Given the description of an element on the screen output the (x, y) to click on. 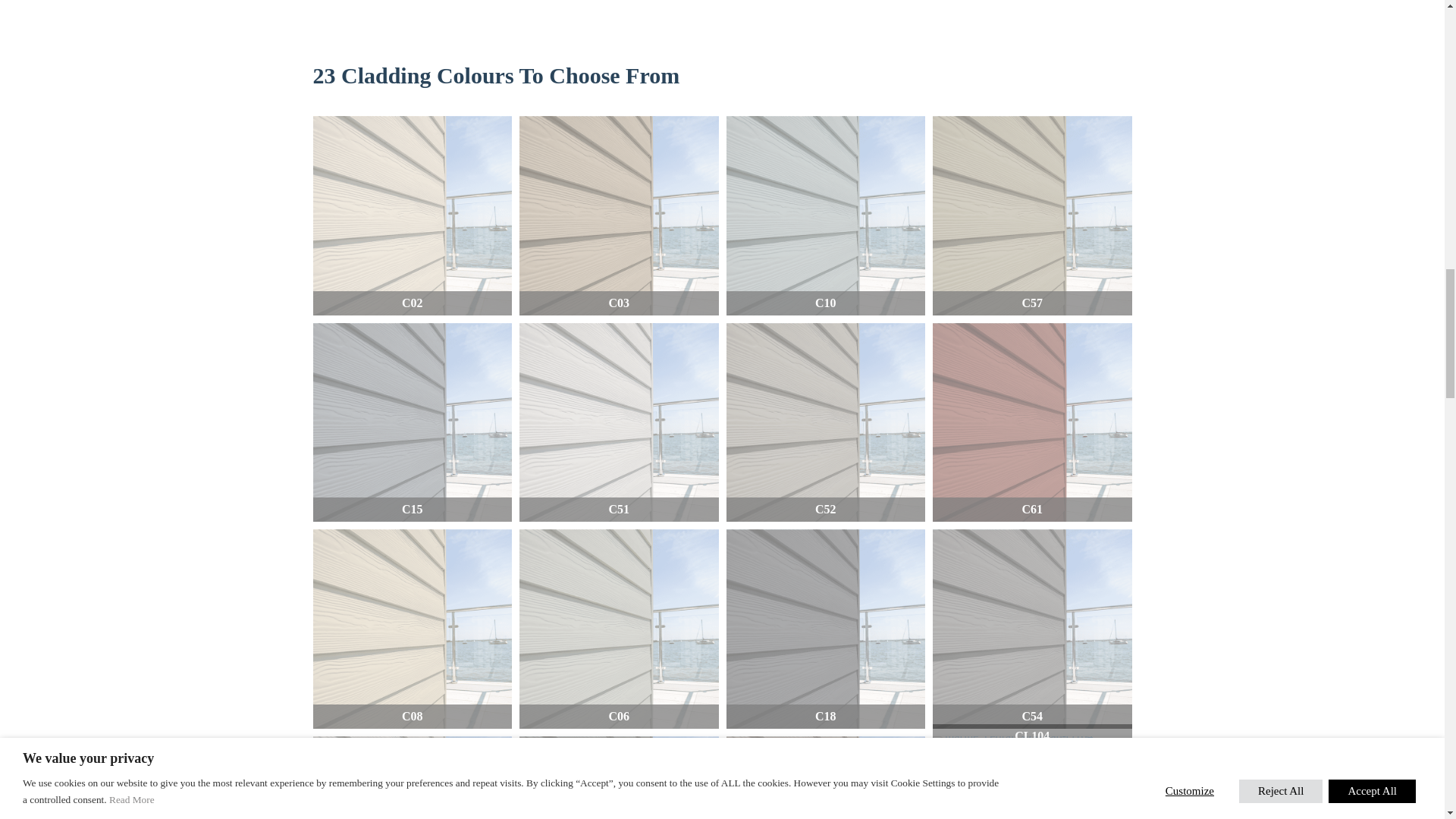
CL105 (1032, 781)
C62 (1032, 761)
C61 (1032, 422)
C06 (619, 628)
C18 (826, 628)
C60 (619, 777)
C55 (826, 777)
C54 (1032, 816)
C54 (1032, 628)
C03 (619, 215)
